Given the description of an element on the screen output the (x, y) to click on. 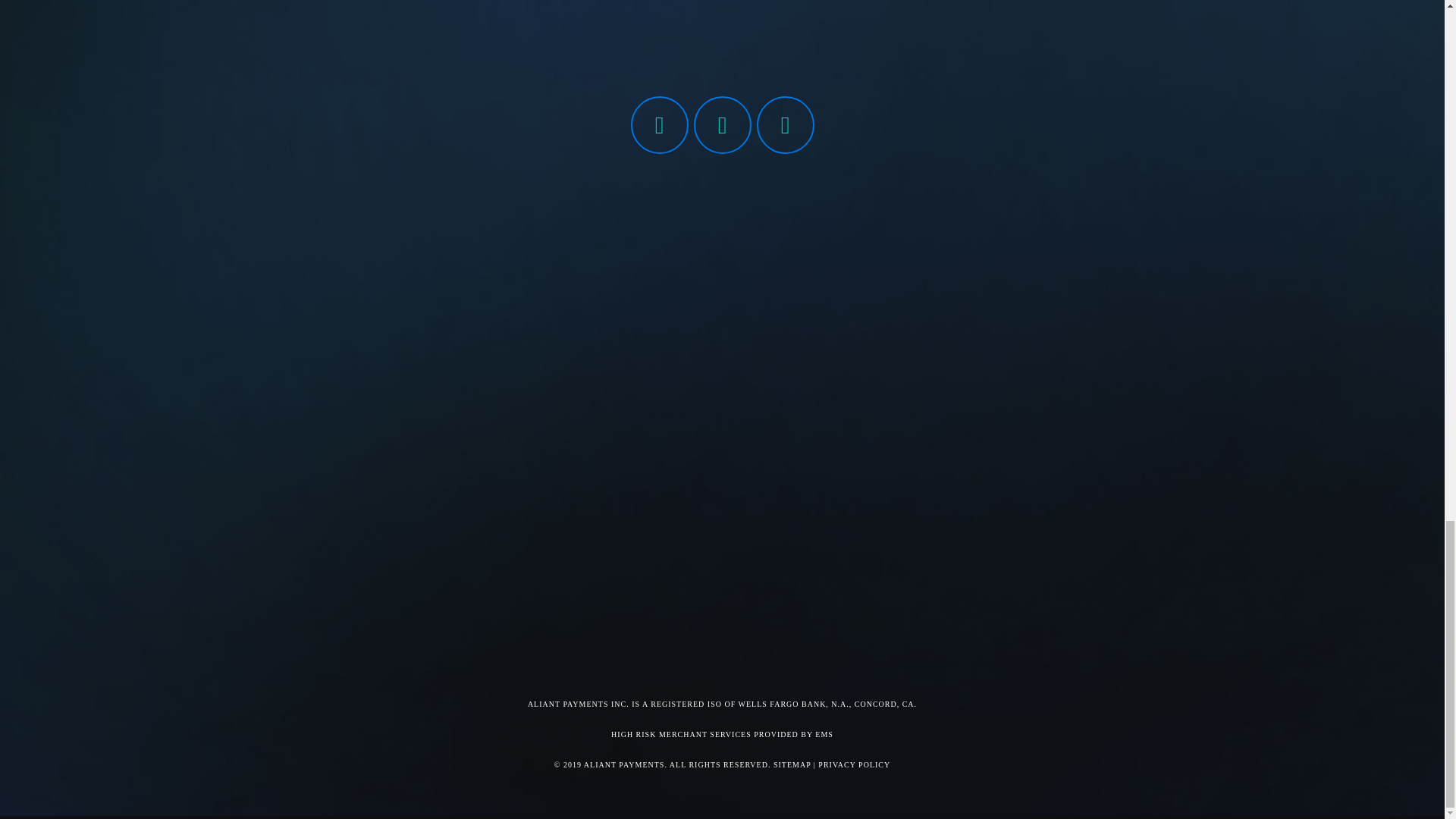
Linkedin (785, 124)
Twitter (722, 124)
Facebook (659, 124)
